Given the description of an element on the screen output the (x, y) to click on. 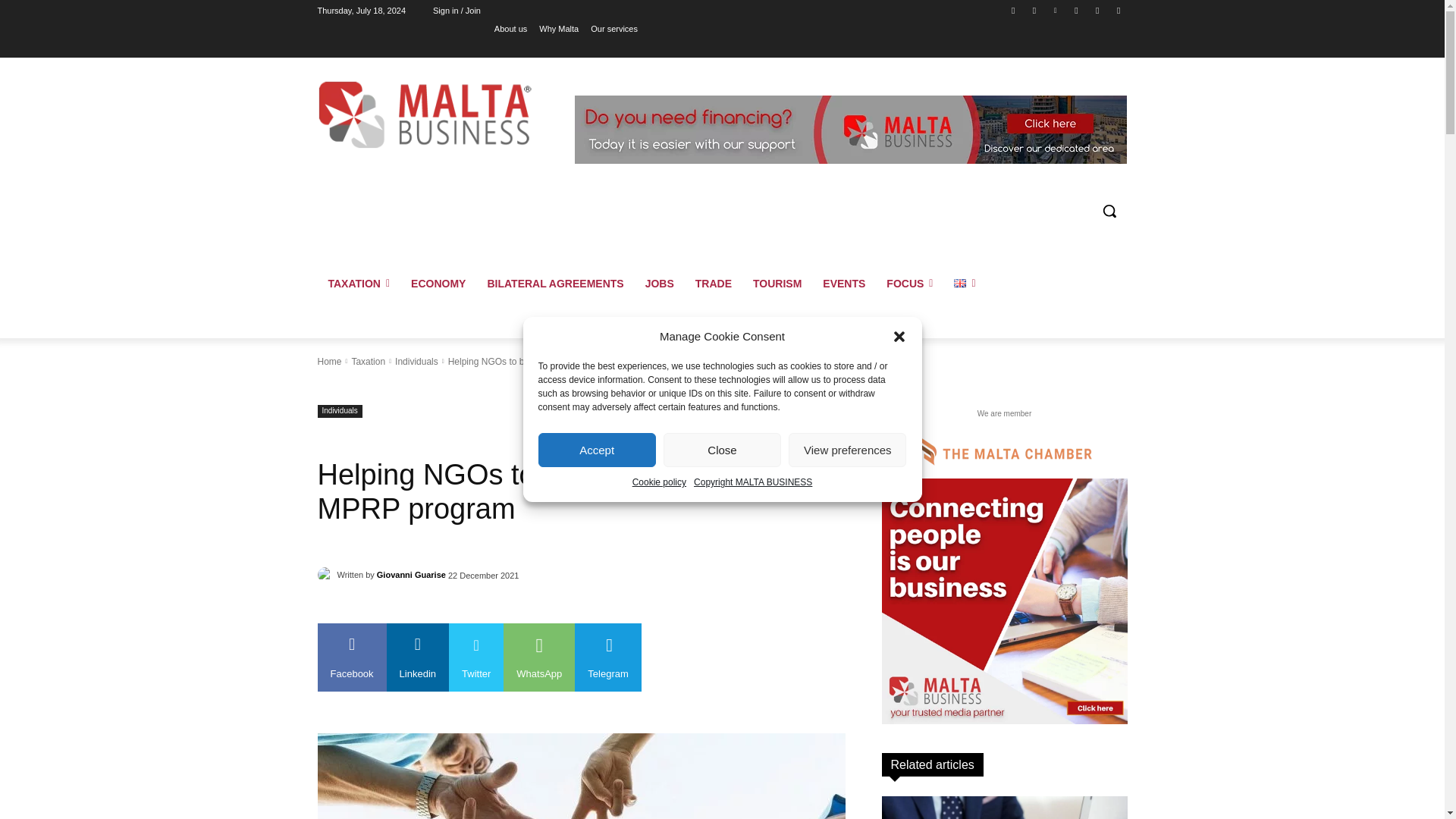
Telegram (1075, 9)
Malta Business (425, 113)
Facebook (1013, 9)
Accept (597, 449)
Instagram (1034, 9)
Twitter (1097, 9)
Youtube (1117, 9)
Close (721, 449)
Copyright MALTA BUSINESS (753, 482)
Cookie policy (658, 482)
View preferences (847, 449)
Linkedin (1055, 9)
